Given the description of an element on the screen output the (x, y) to click on. 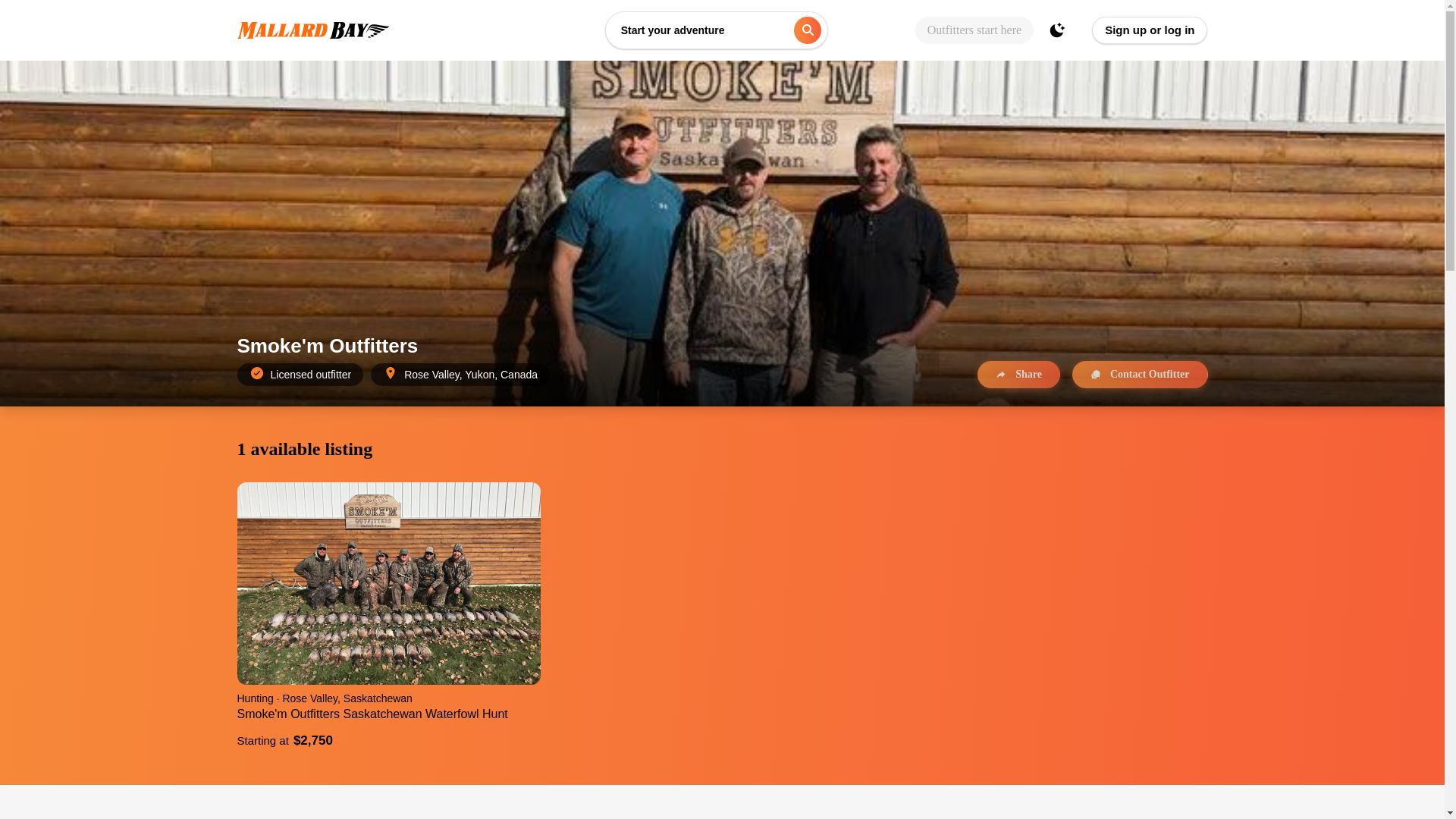
Start your adventure (716, 30)
Contact Outfitter (1139, 374)
Search (806, 30)
Share (1017, 374)
Outfitters start here (974, 30)
